Given the description of an element on the screen output the (x, y) to click on. 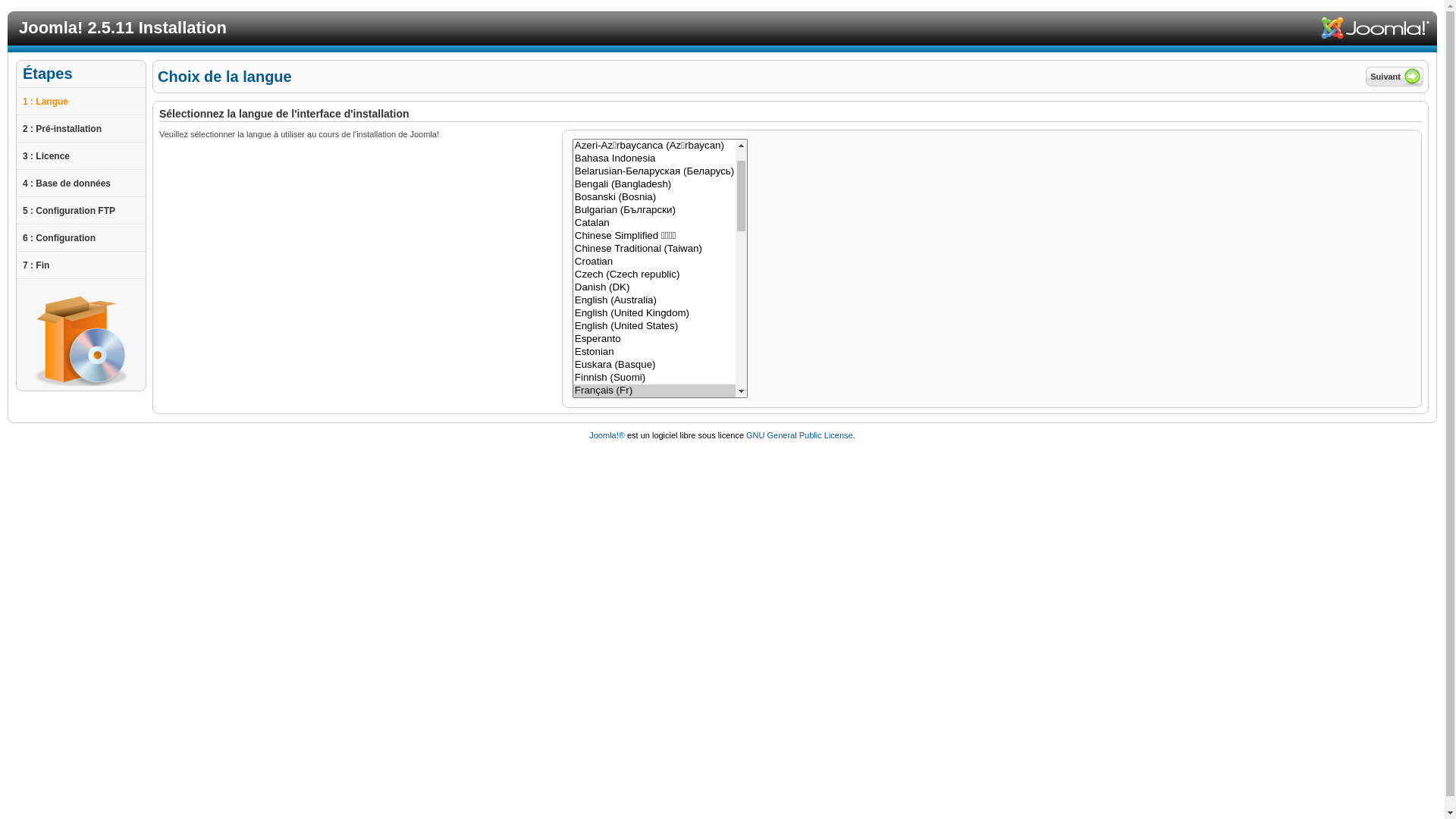
GNU General Public License Element type: text (799, 434)
Suivant Element type: text (1394, 76)
